Given the description of an element on the screen output the (x, y) to click on. 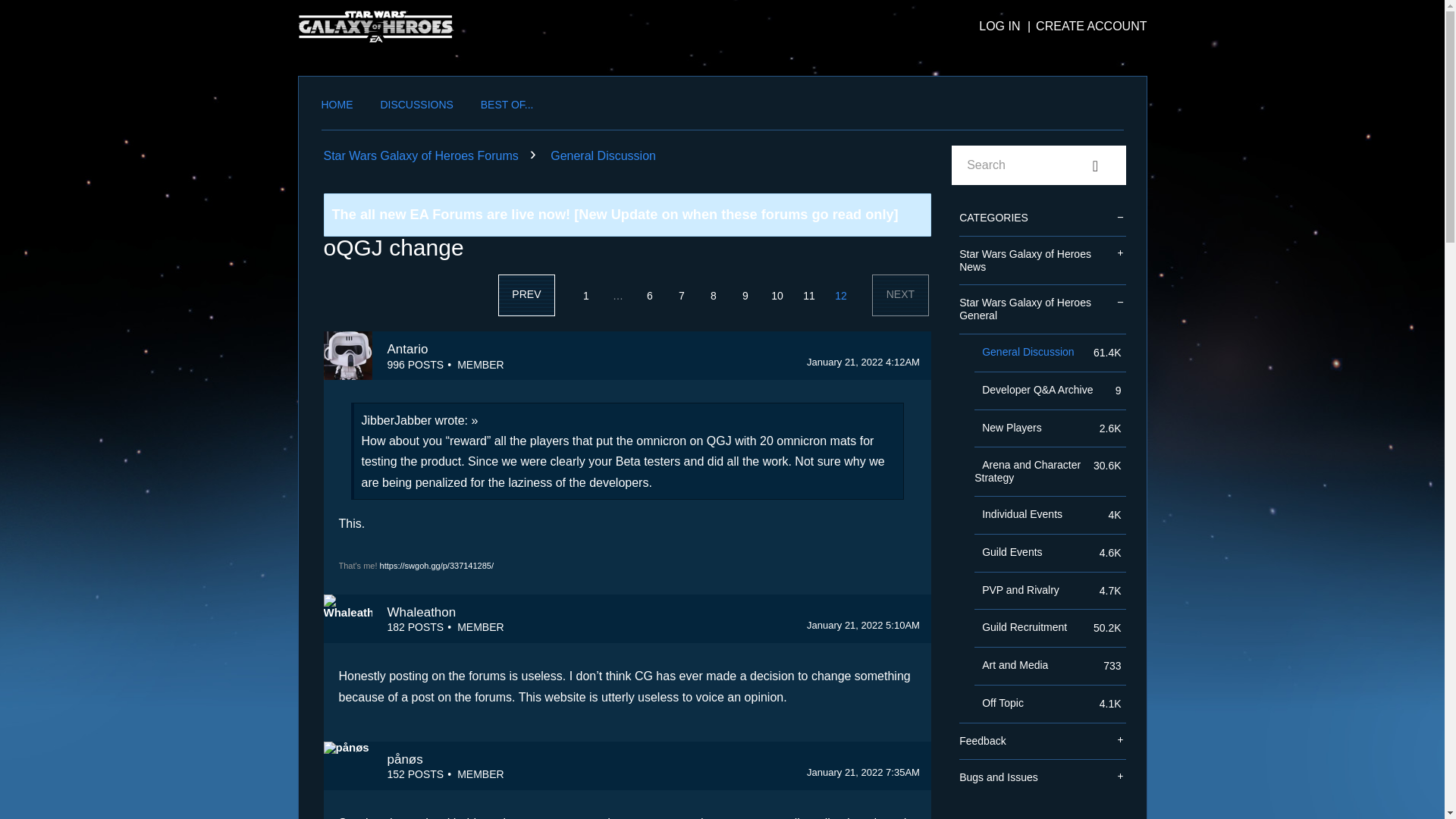
January 21, 2022 5:10AM (863, 624)
JibberJabber (395, 420)
DISCUSSIONS (416, 107)
BEST OF... (507, 107)
Antario (347, 355)
Level 1 (480, 626)
12 (840, 295)
Level 1 (480, 774)
CREATE ACCOUNT (1085, 25)
11 (808, 295)
7 (681, 295)
General Discussion (603, 155)
6 (649, 295)
Level 1 (480, 364)
LOG IN (999, 25)
